Given the description of an element on the screen output the (x, y) to click on. 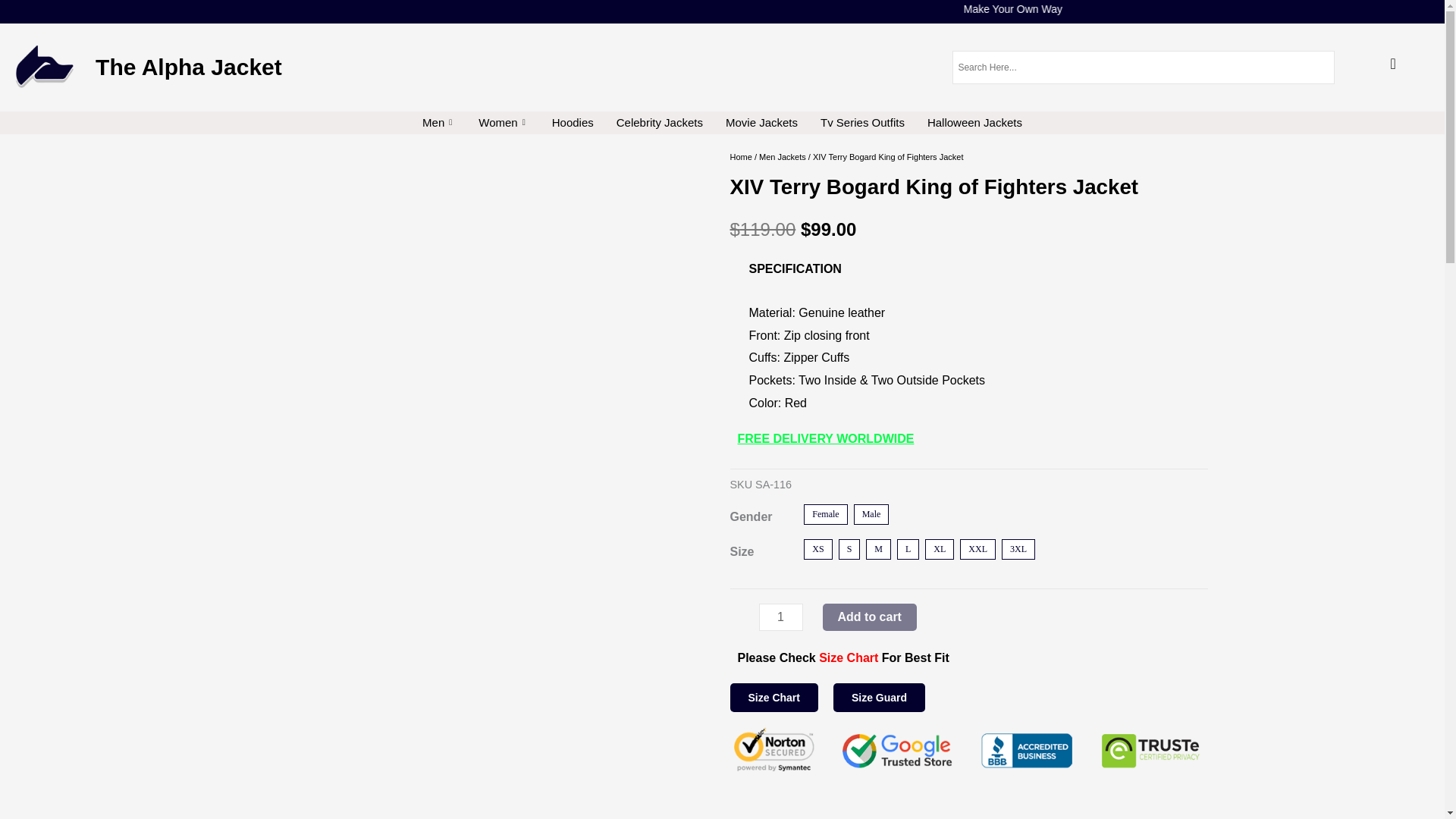
Men (438, 122)
1 (780, 616)
The Alpha Jacket (189, 66)
Women (503, 122)
